Given the description of an element on the screen output the (x, y) to click on. 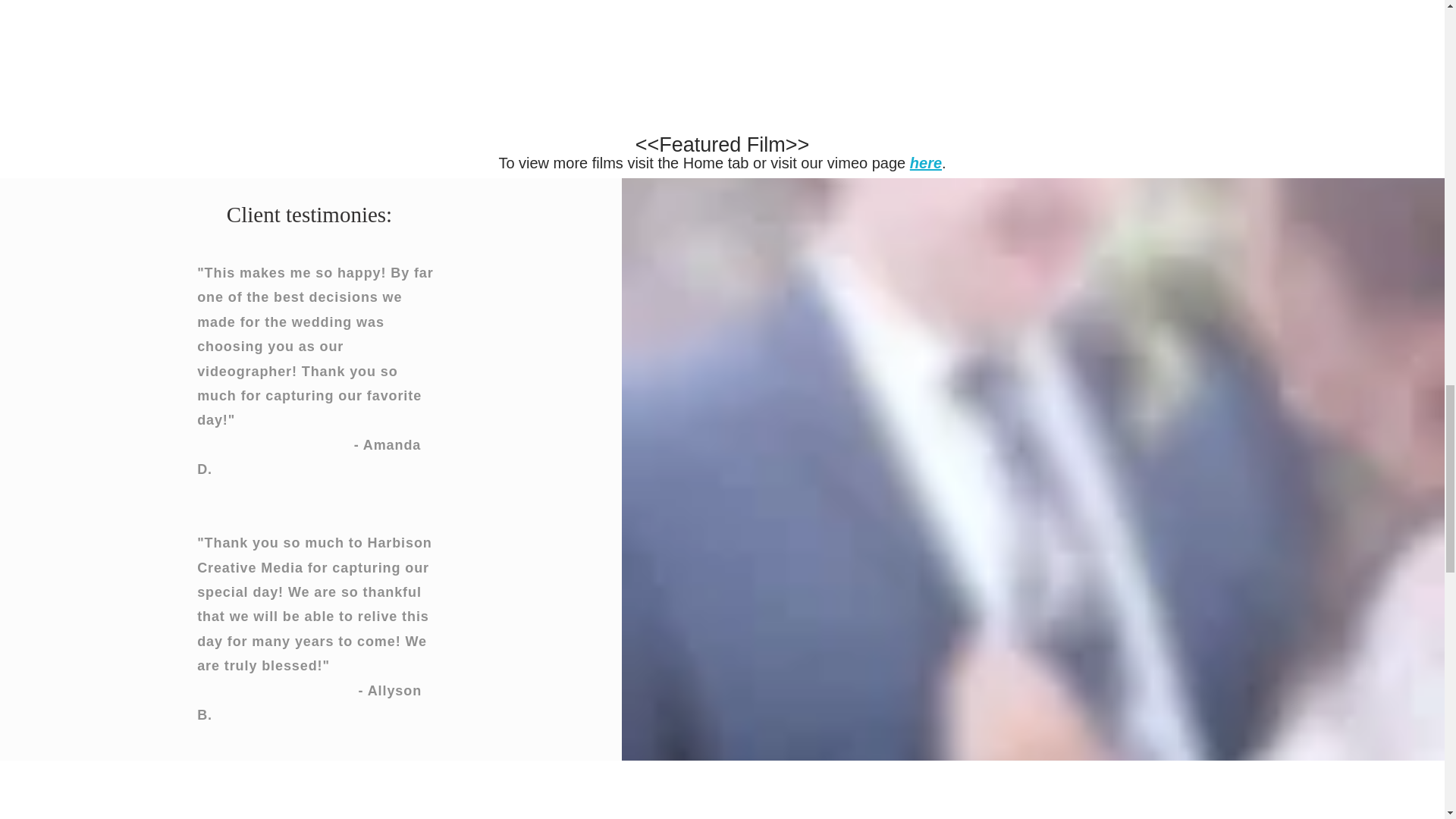
here (926, 162)
